Given the description of an element on the screen output the (x, y) to click on. 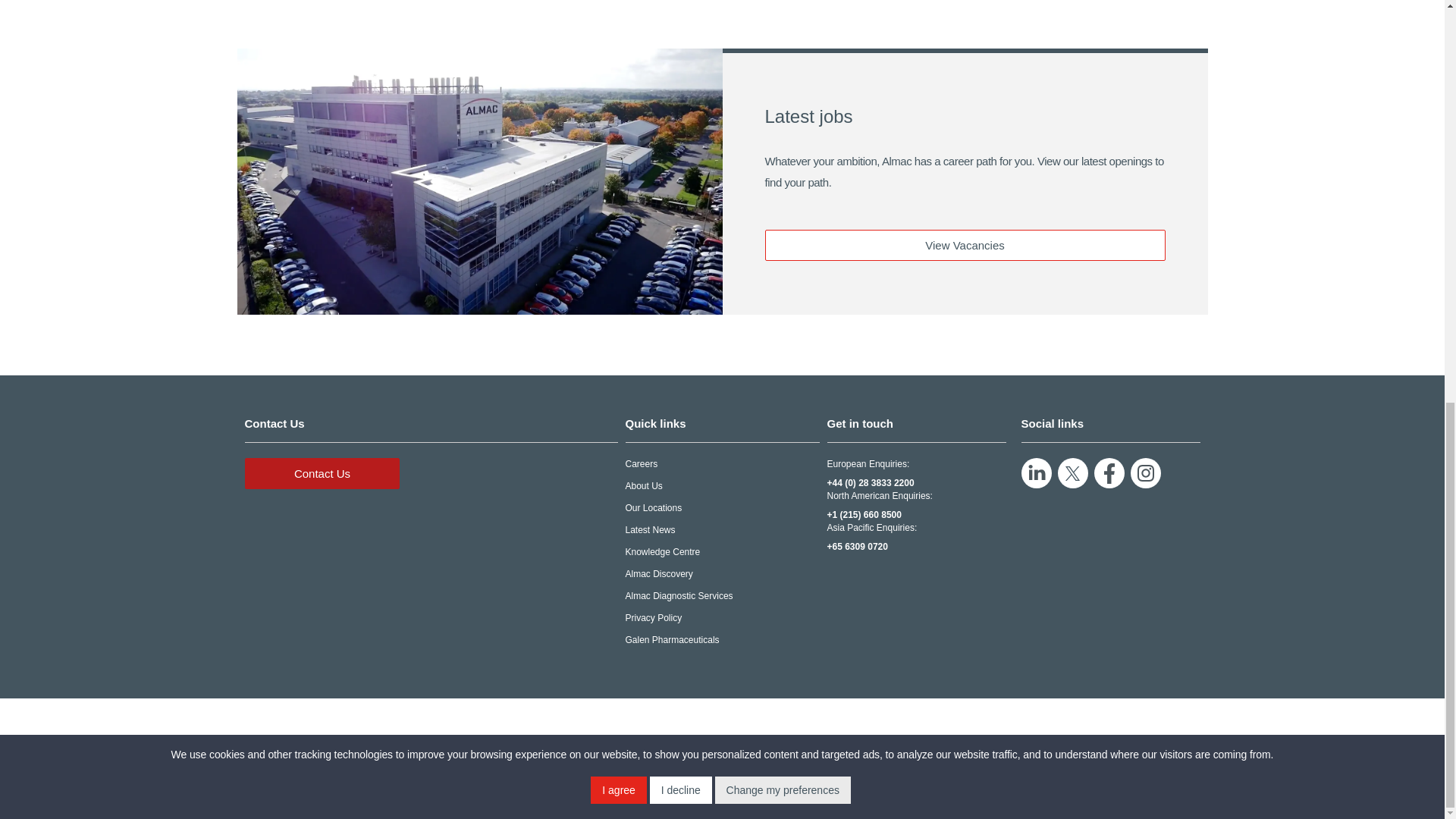
X (1072, 472)
Change my preferences (782, 6)
I decline (680, 6)
I agree (618, 6)
